Given the description of an element on the screen output the (x, y) to click on. 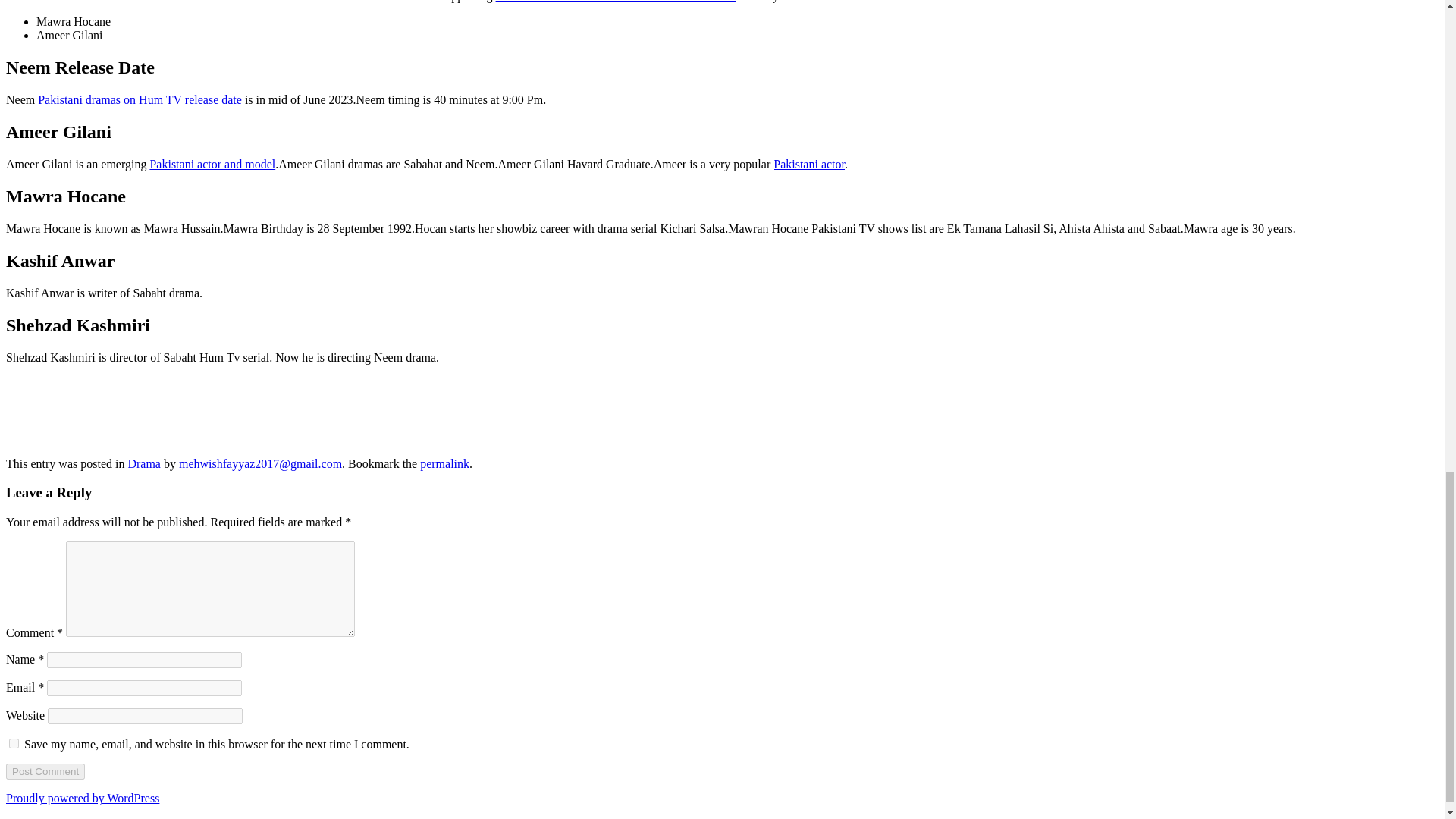
Find us on Linkedin (103, 394)
Check out our instagram feed (144, 394)
yes (13, 743)
Follow us on Facebook (23, 394)
Post Comment (44, 771)
Follow us on Twitter (64, 394)
